Given the description of an element on the screen output the (x, y) to click on. 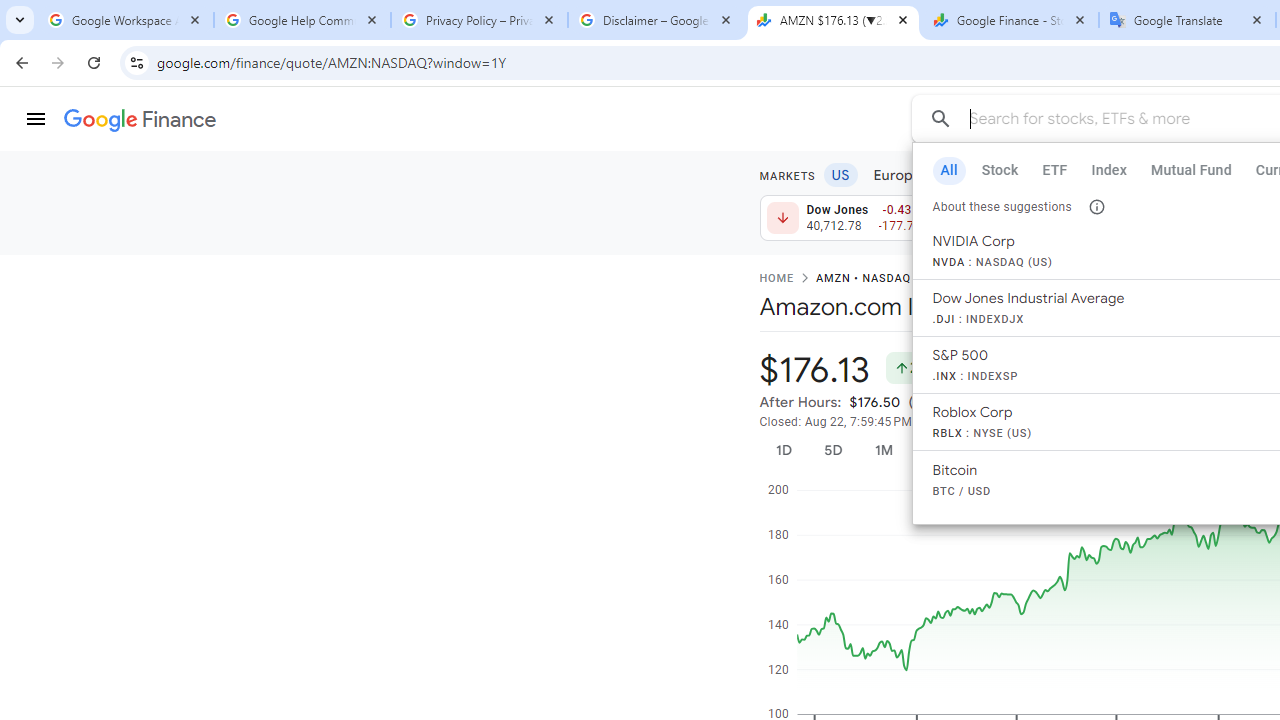
5D (832, 449)
S&P 500 5,570.64 Down by 0.89% -50.21 (1017, 218)
5Y (1092, 449)
ETF (1055, 170)
HOME (776, 279)
Dow Jones 40,712.78 Down by 0.43% -177.71 (843, 218)
Crypto (1119, 174)
Google Workspace Admin Community (125, 20)
